Given the description of an element on the screen output the (x, y) to click on. 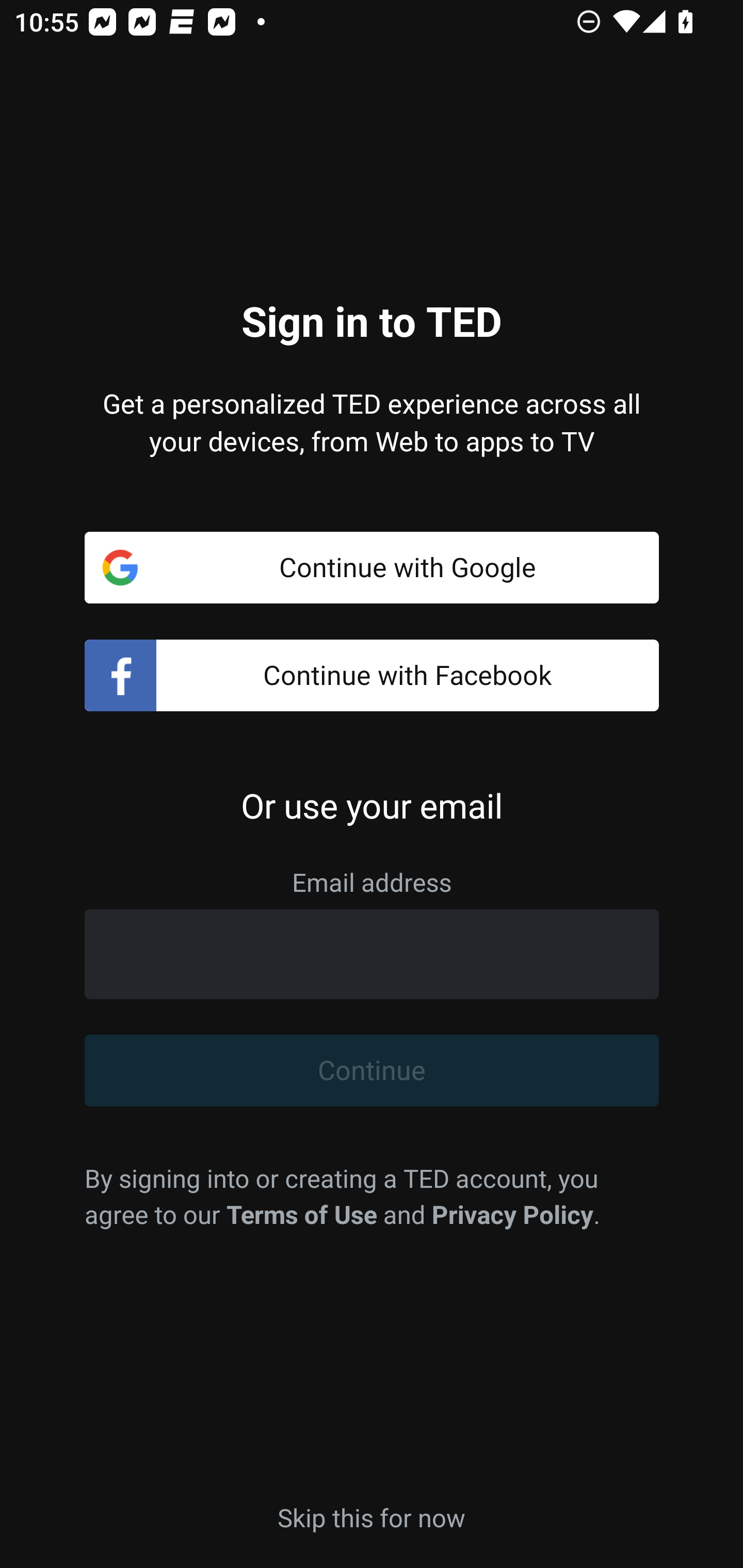
Continue with Google (371, 567)
Continue with Facebook (371, 675)
Continue (371, 1070)
Skip this for now (371, 1516)
